Given the description of an element on the screen output the (x, y) to click on. 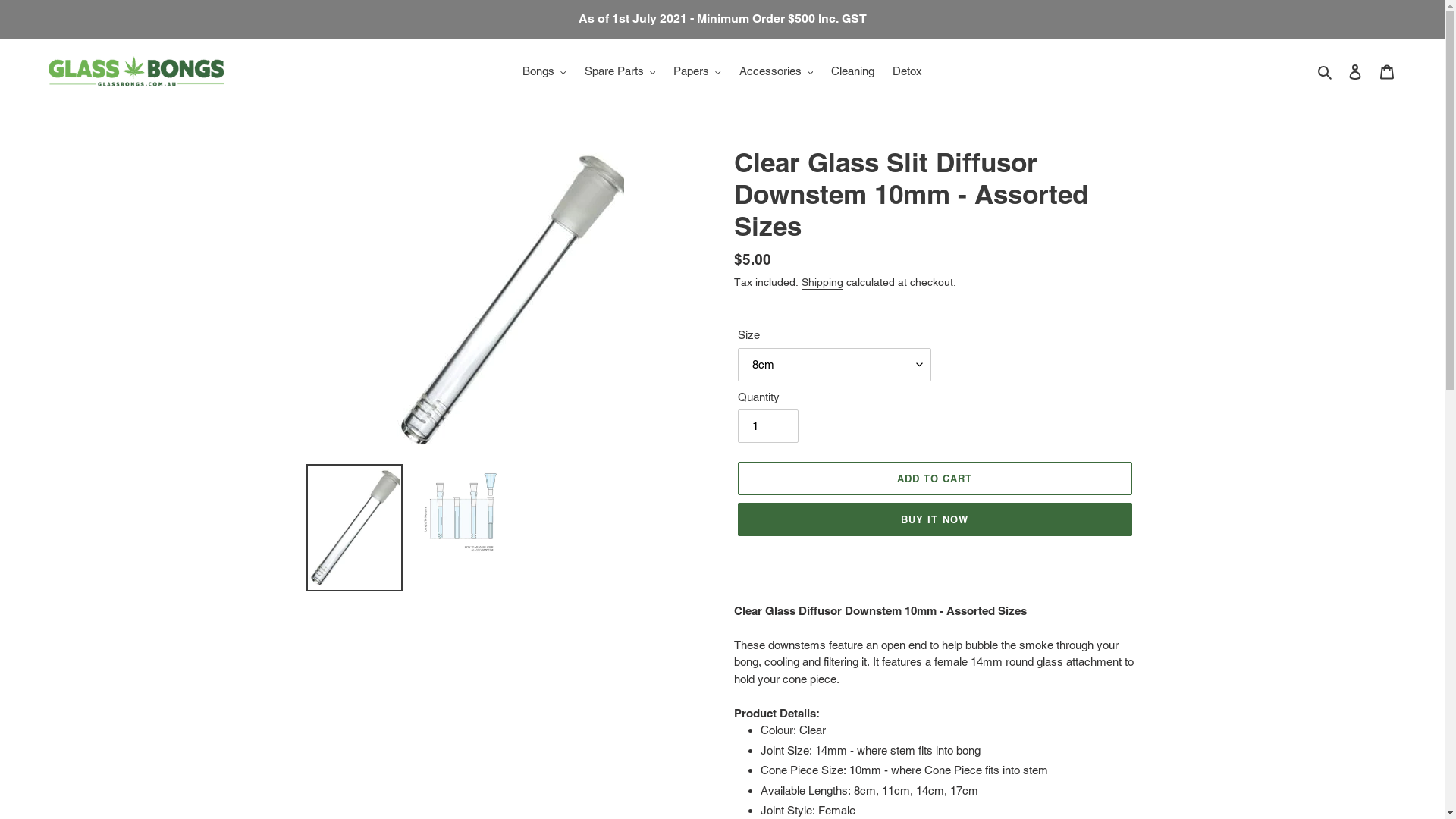
Log in Element type: text (1355, 71)
Search Element type: text (1325, 71)
ADD TO CART Element type: text (934, 478)
Spare Parts Element type: text (619, 71)
Bongs Element type: text (544, 71)
BUY IT NOW Element type: text (934, 519)
Cleaning Element type: text (852, 71)
Cart Element type: text (1386, 71)
Papers Element type: text (696, 71)
Shipping Element type: text (821, 282)
Detox Element type: text (906, 71)
Accessories Element type: text (775, 71)
